Given the description of an element on the screen output the (x, y) to click on. 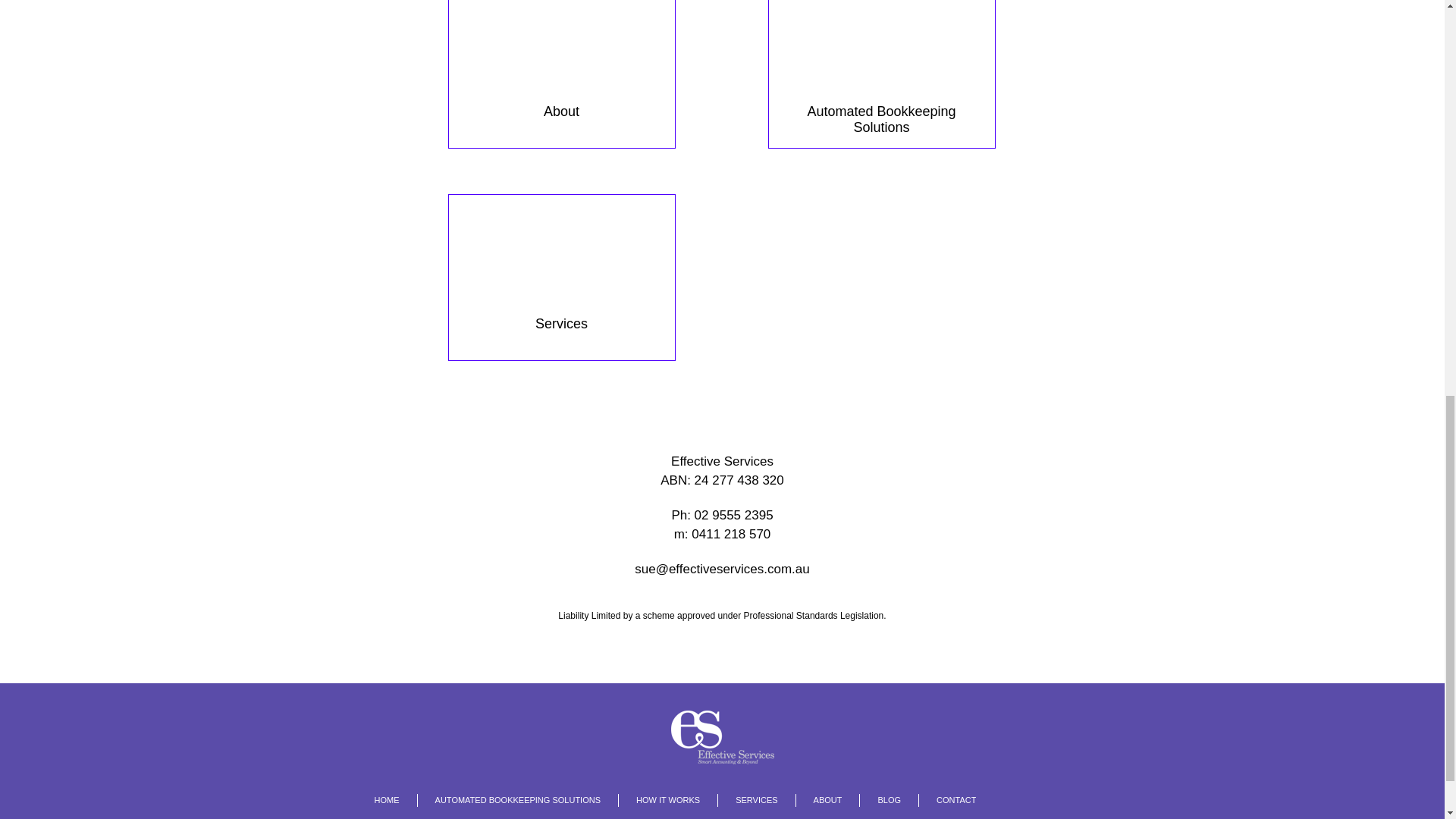
ABOUT (818, 799)
LINKEDIN (1057, 799)
TWITTER (1014, 799)
About (560, 74)
Automated Bookkeeping Solutions (880, 74)
CONTACT (946, 799)
HOW IT WORKS (658, 799)
SERVICES (747, 799)
HOME (386, 799)
BLOG (880, 799)
Services (560, 277)
